Given the description of an element on the screen output the (x, y) to click on. 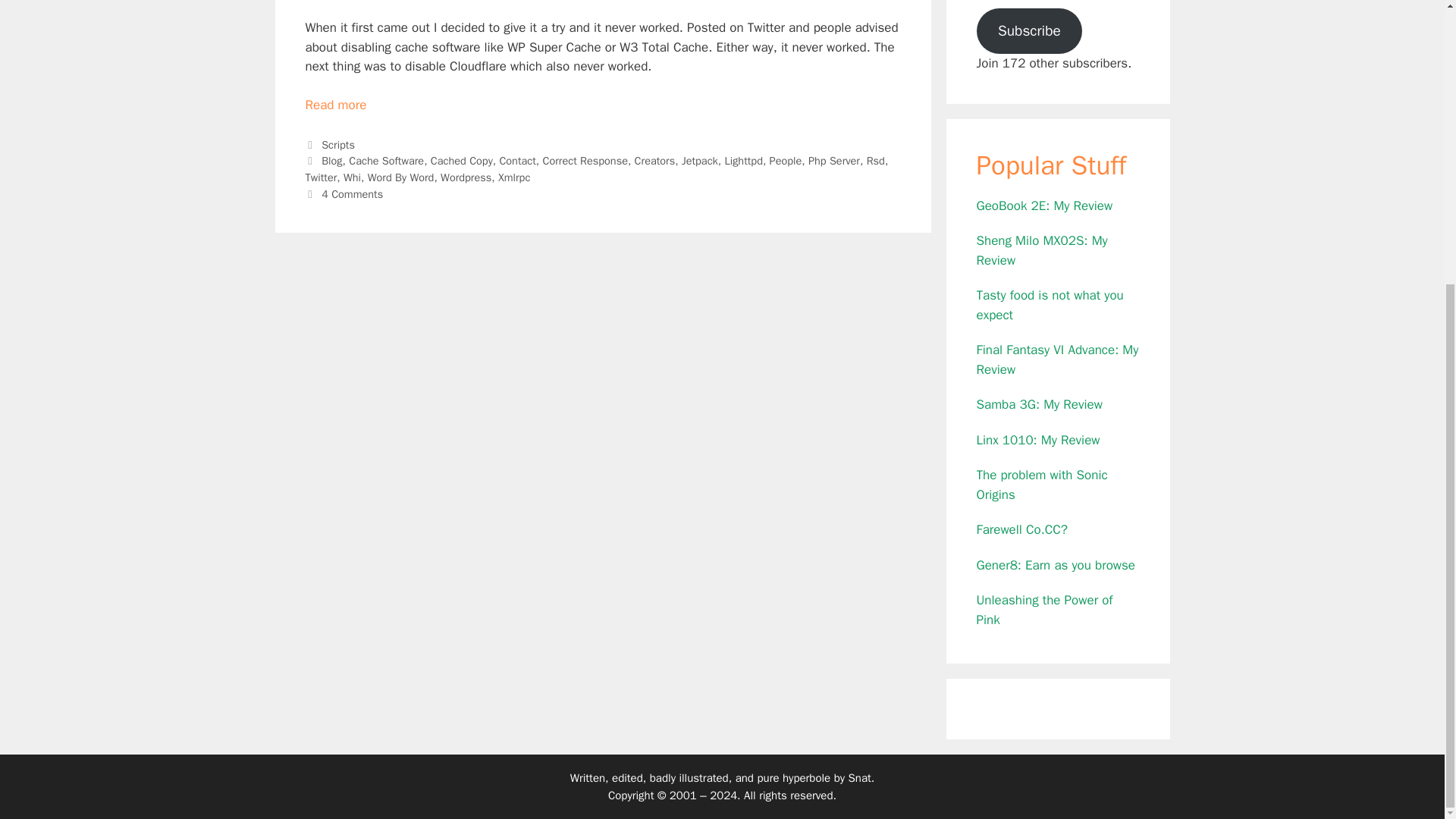
Scripts (338, 144)
Read more (335, 105)
Blog (331, 160)
Cache Software (386, 160)
Lighttpd and JetPack (335, 105)
